Given the description of an element on the screen output the (x, y) to click on. 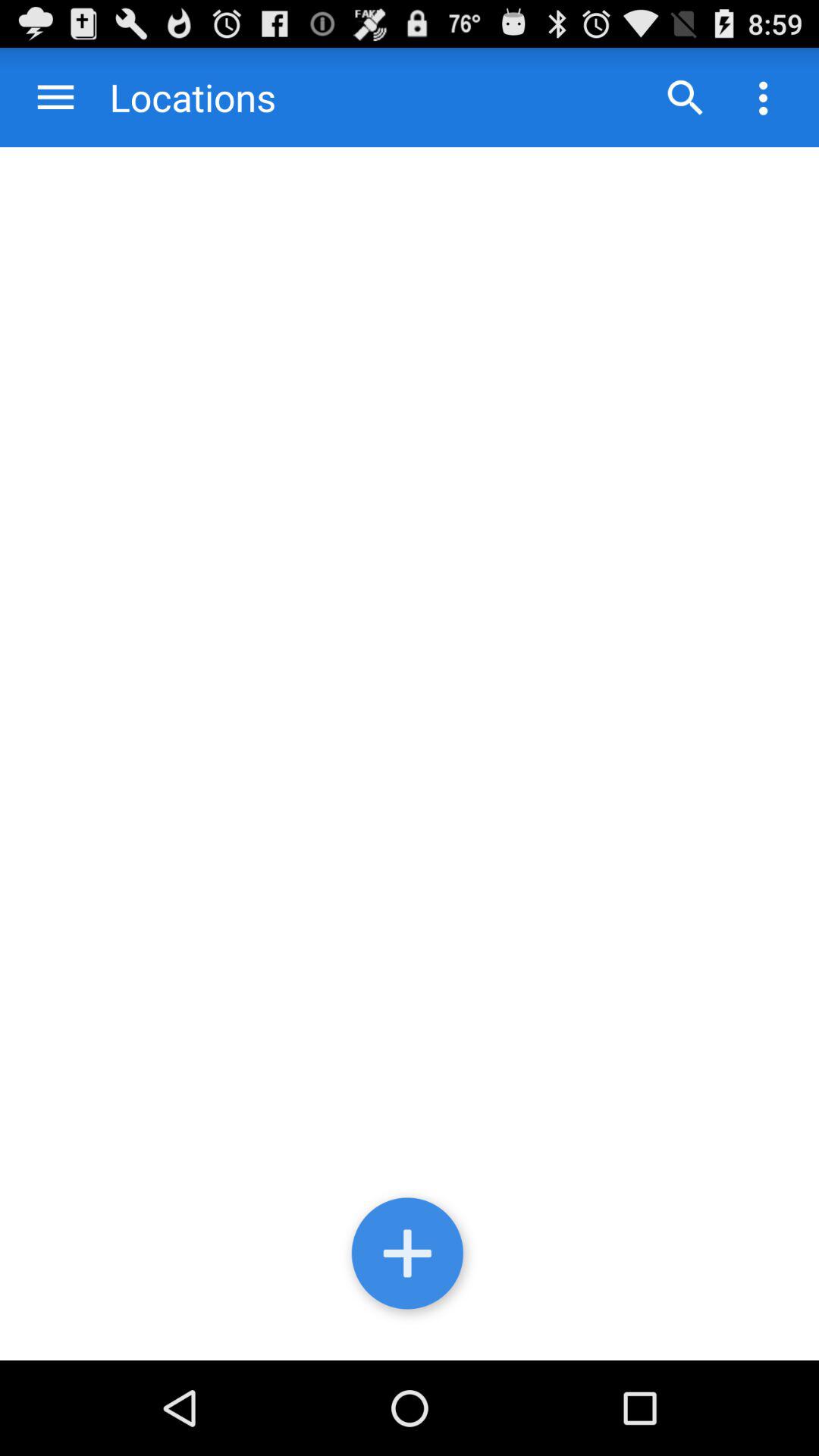
search locations (685, 97)
